Given the description of an element on the screen output the (x, y) to click on. 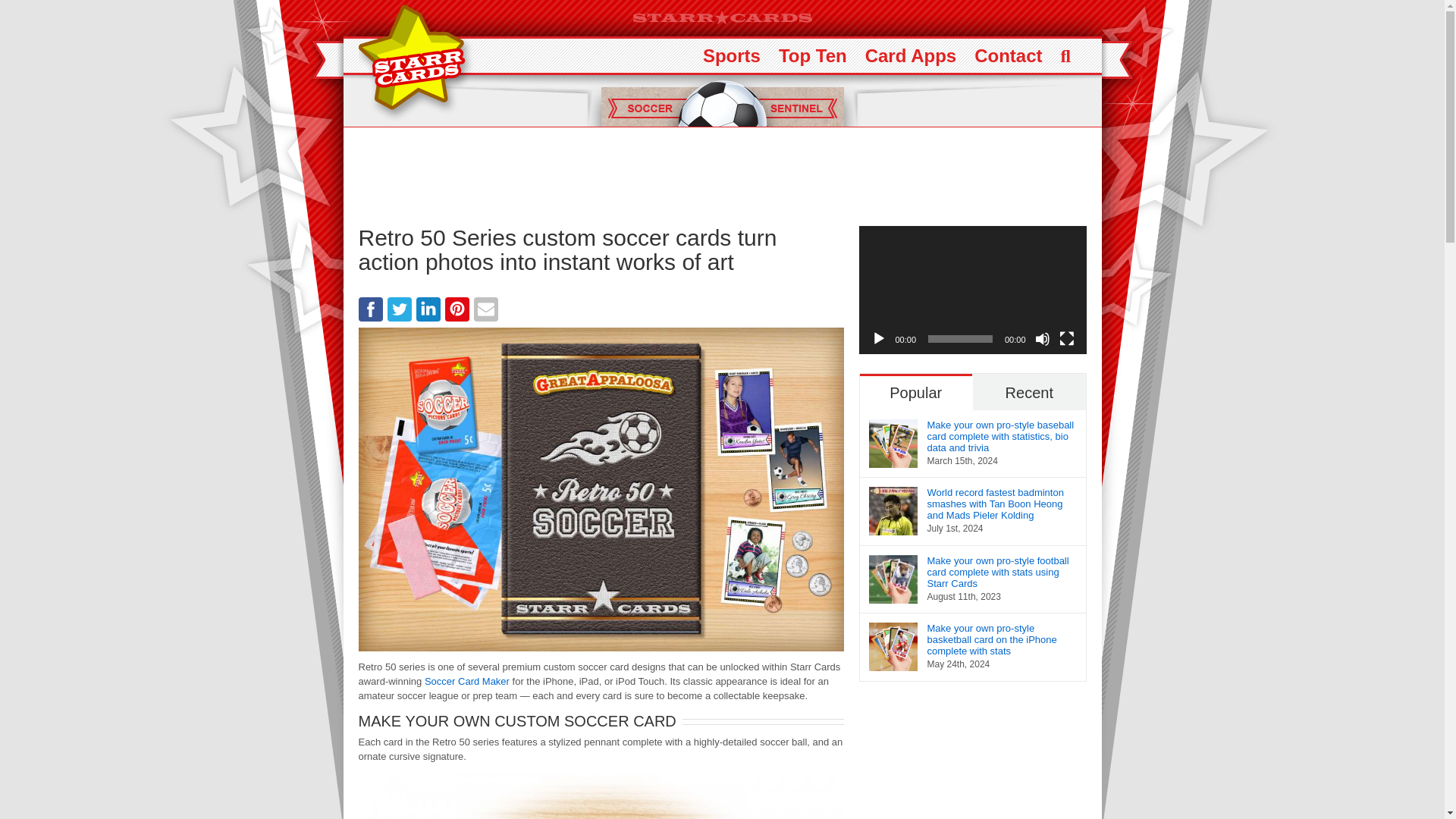
Sports (731, 54)
Card Apps (910, 54)
Top Ten (812, 54)
